Given the description of an element on the screen output the (x, y) to click on. 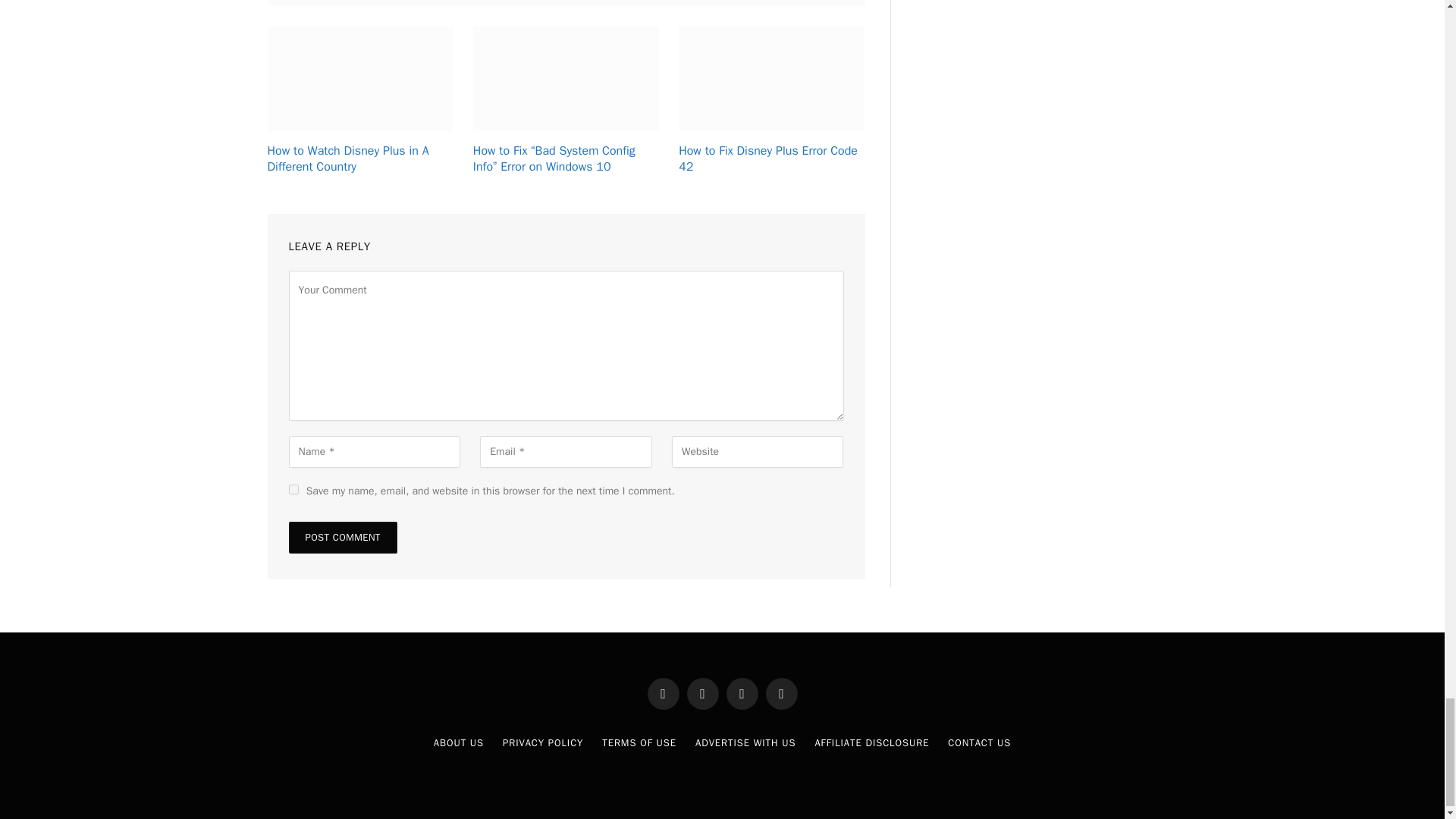
Post Comment (342, 537)
yes (293, 489)
